Given the description of an element on the screen output the (x, y) to click on. 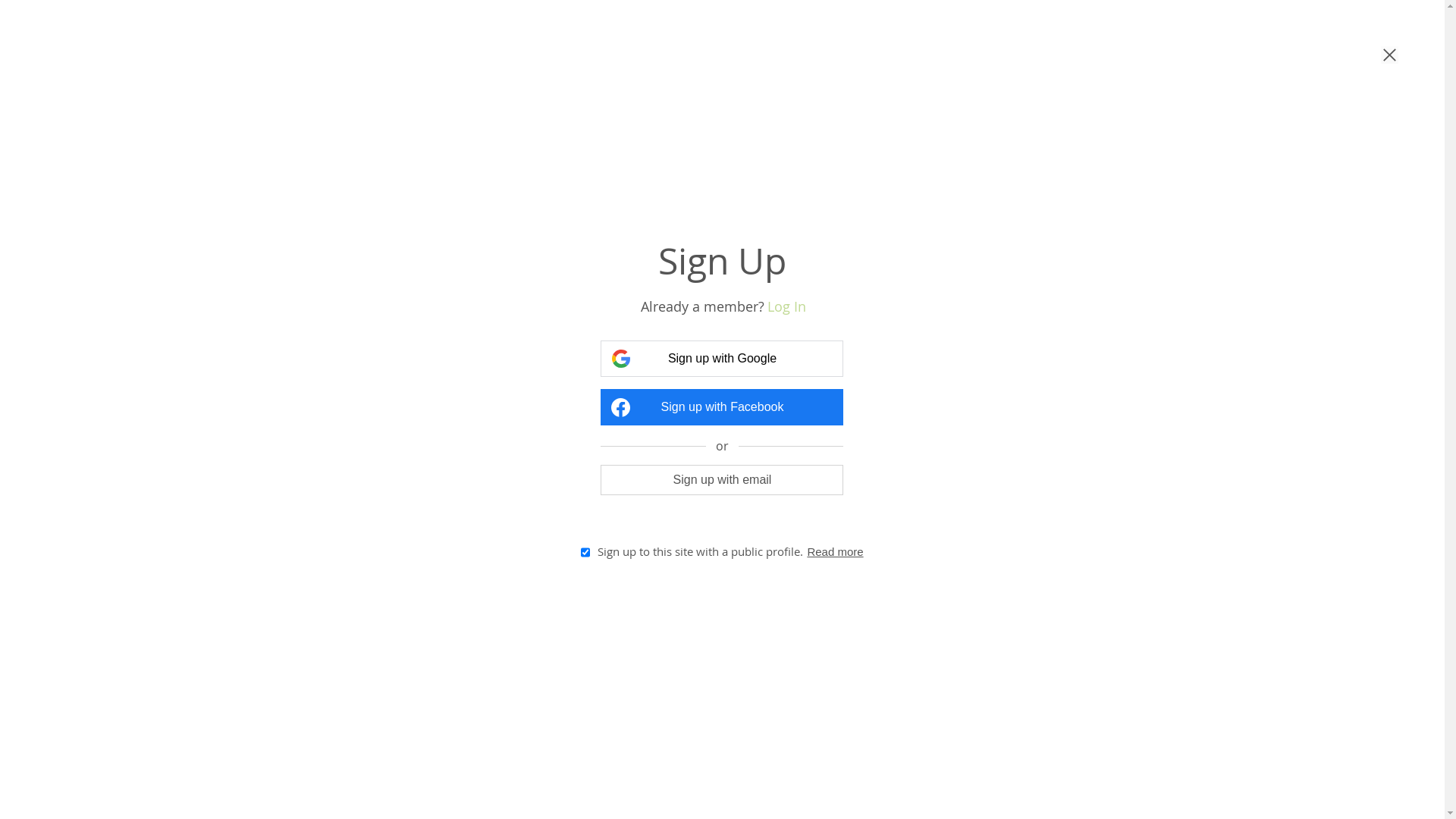
Sign up with Google Element type: text (721, 358)
Sign up with email Element type: text (721, 479)
Read more Element type: text (834, 551)
Log In Element type: text (786, 306)
Sign up with Facebook Element type: text (721, 407)
